Given the description of an element on the screen output the (x, y) to click on. 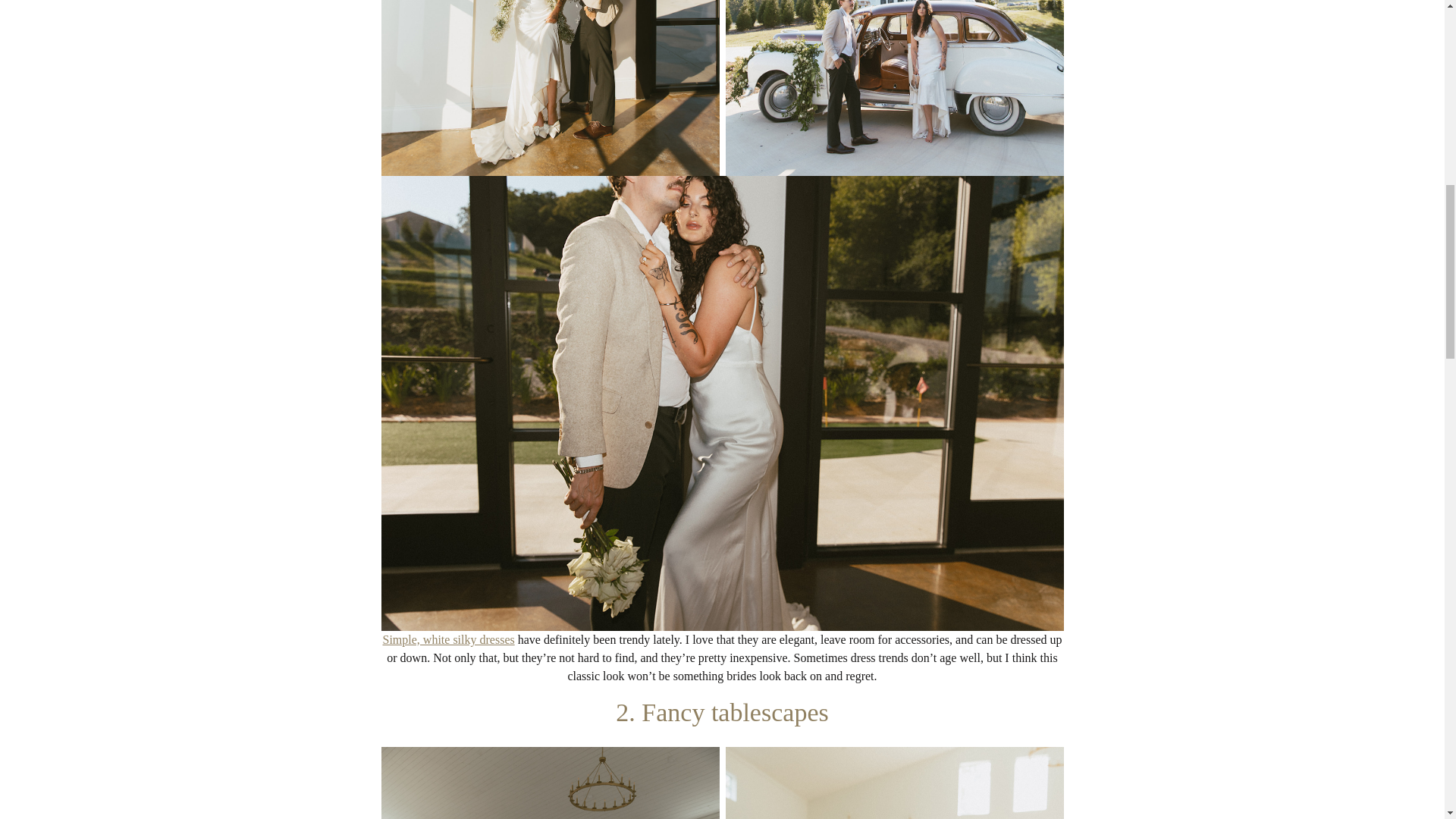
Simple, white silky dresses (447, 639)
